Given the description of an element on the screen output the (x, y) to click on. 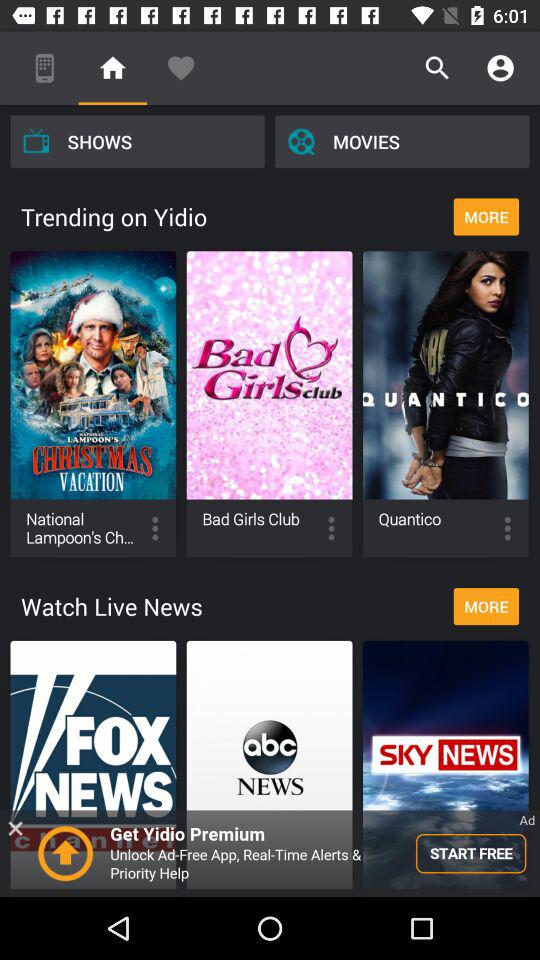
choose the icon to the right of the shows (402, 141)
